Given the description of an element on the screen output the (x, y) to click on. 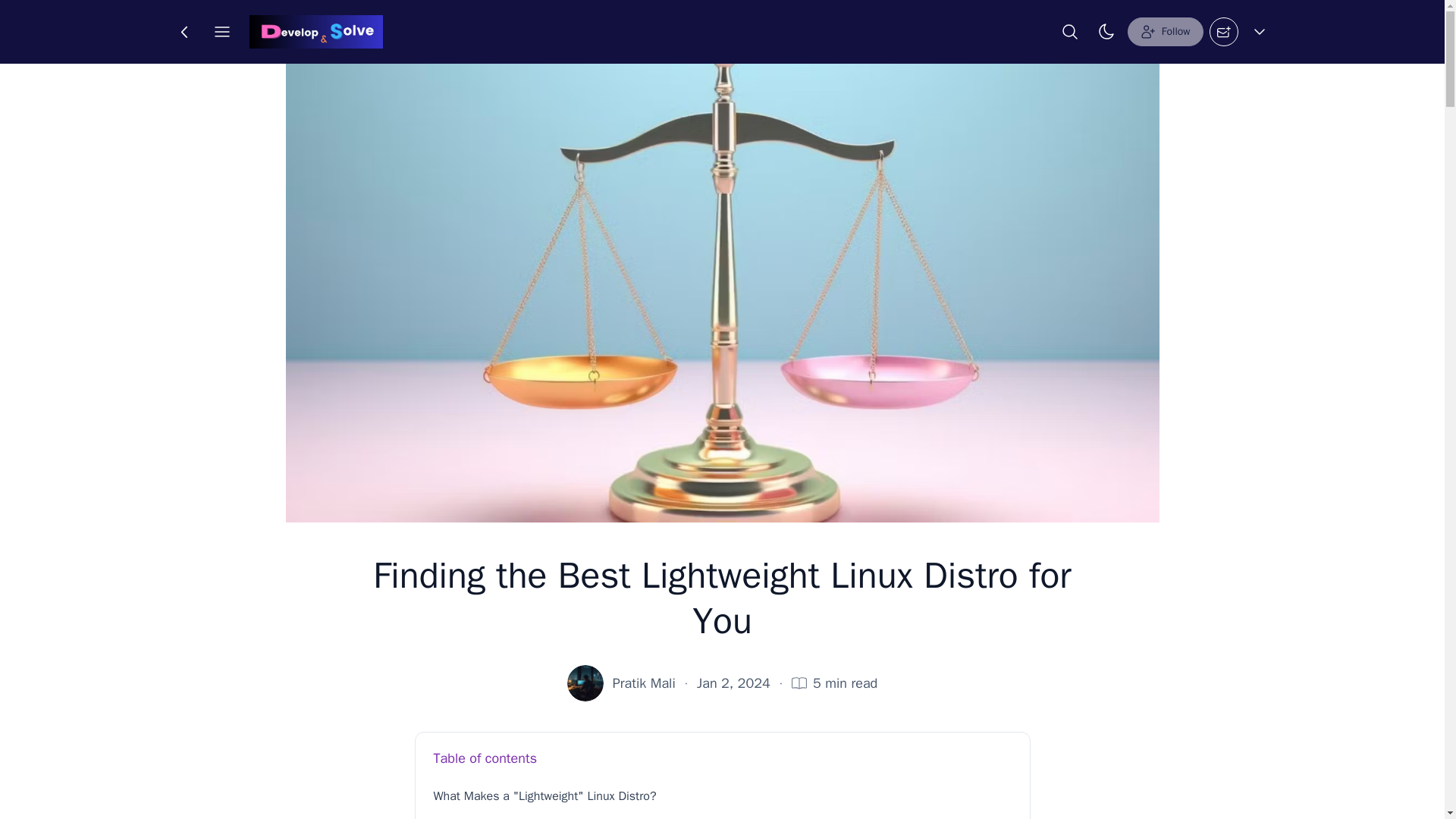
Follow (1165, 31)
Jan 2, 2024 (733, 682)
What Makes a "Lightweight" Linux Distro? (722, 796)
Pratik Mali (643, 682)
